Given the description of an element on the screen output the (x, y) to click on. 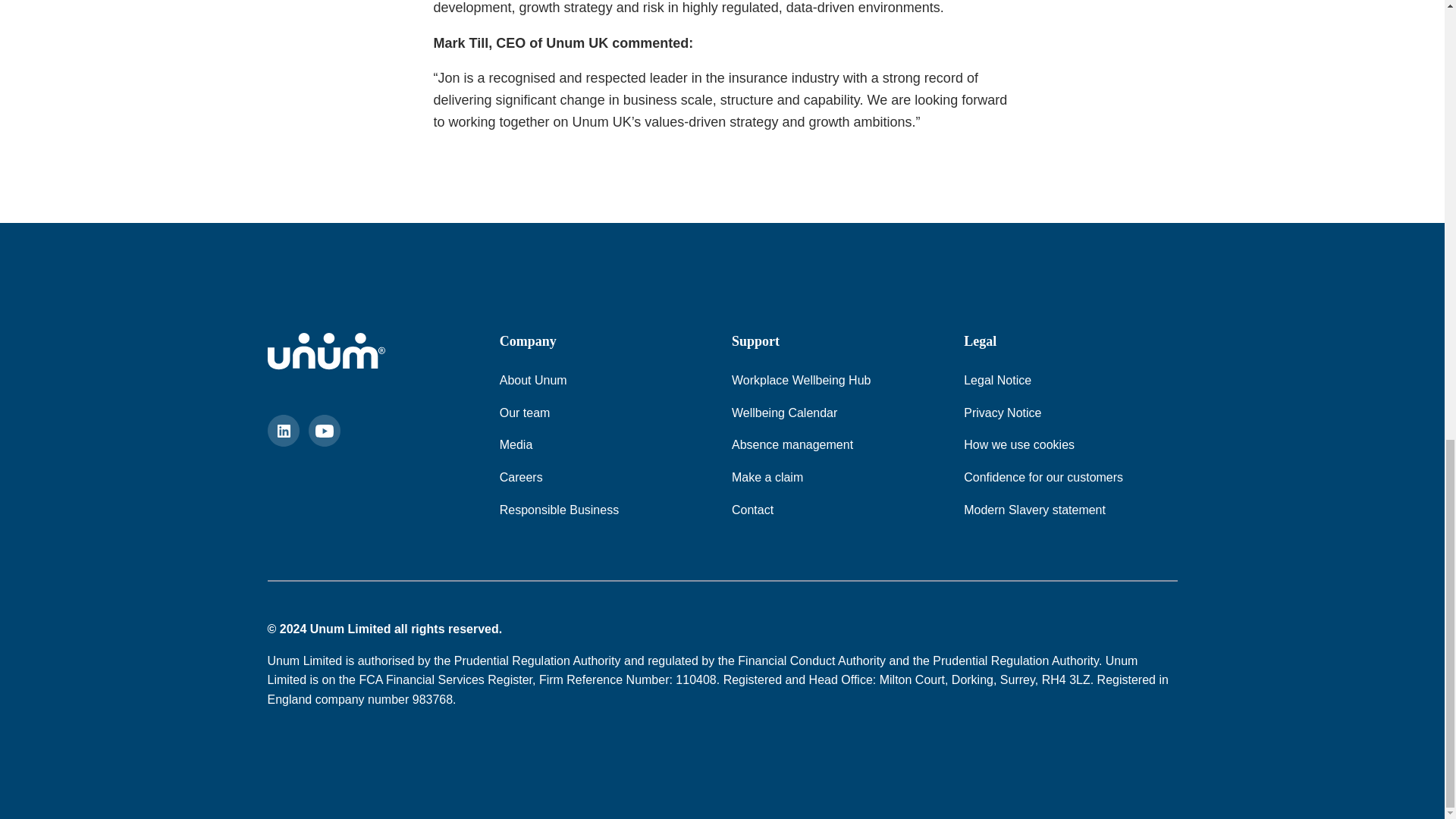
Modern Slavery statement (1034, 510)
Workplace Wellbeing Hub (801, 380)
Responsible Business (558, 510)
Privacy Notice (1002, 413)
Our team (524, 413)
Careers (521, 477)
Wellbeing Calendar (784, 413)
Contact (752, 510)
Legal Notice (996, 380)
How we use cookies (1018, 444)
